Given the description of an element on the screen output the (x, y) to click on. 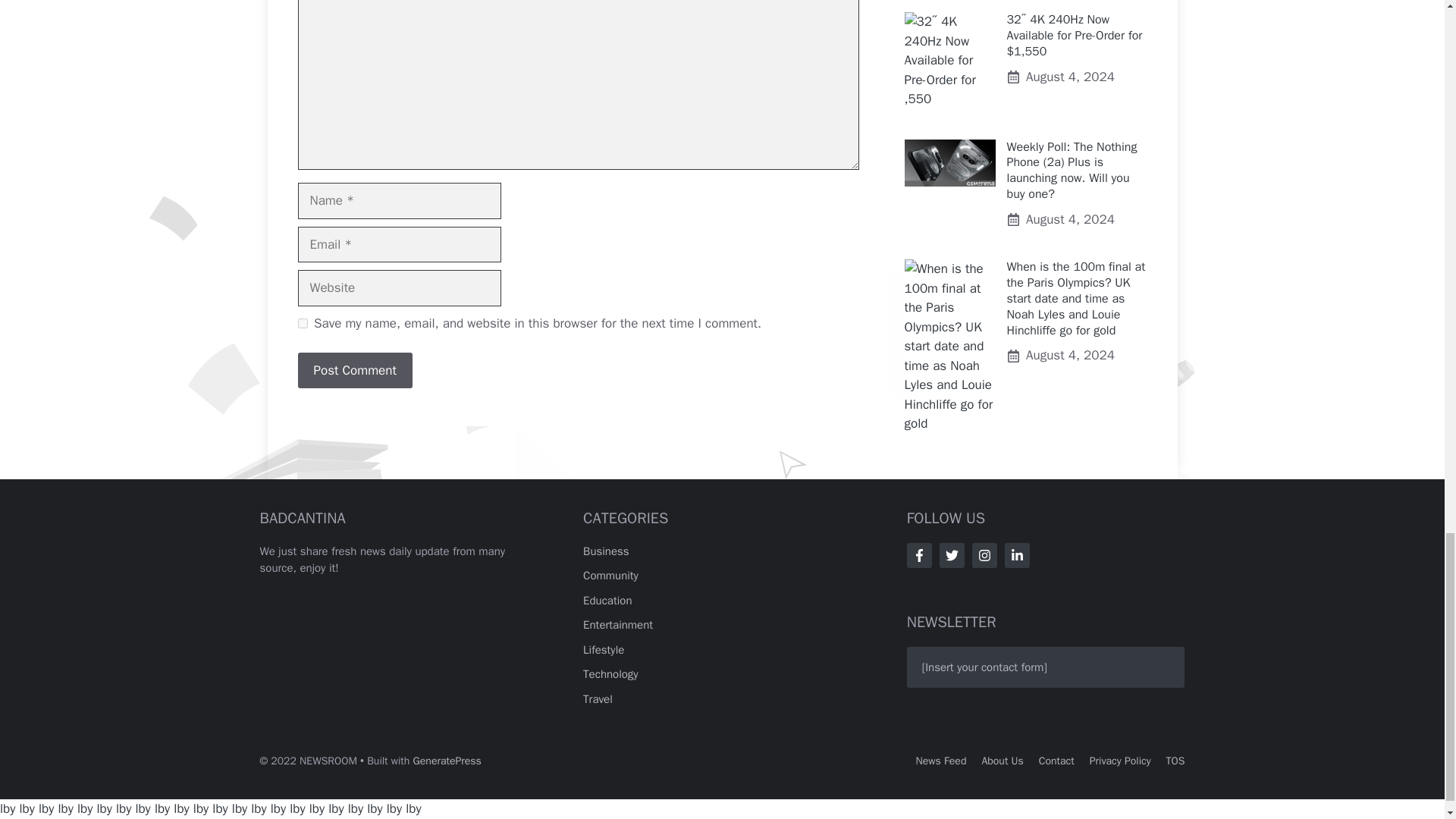
yes (302, 323)
Post Comment (354, 370)
Technology (611, 673)
Education (607, 600)
Community (611, 575)
Business (605, 550)
Post Comment (354, 370)
Lifestyle (603, 649)
Entertainment (617, 624)
